Given the description of an element on the screen output the (x, y) to click on. 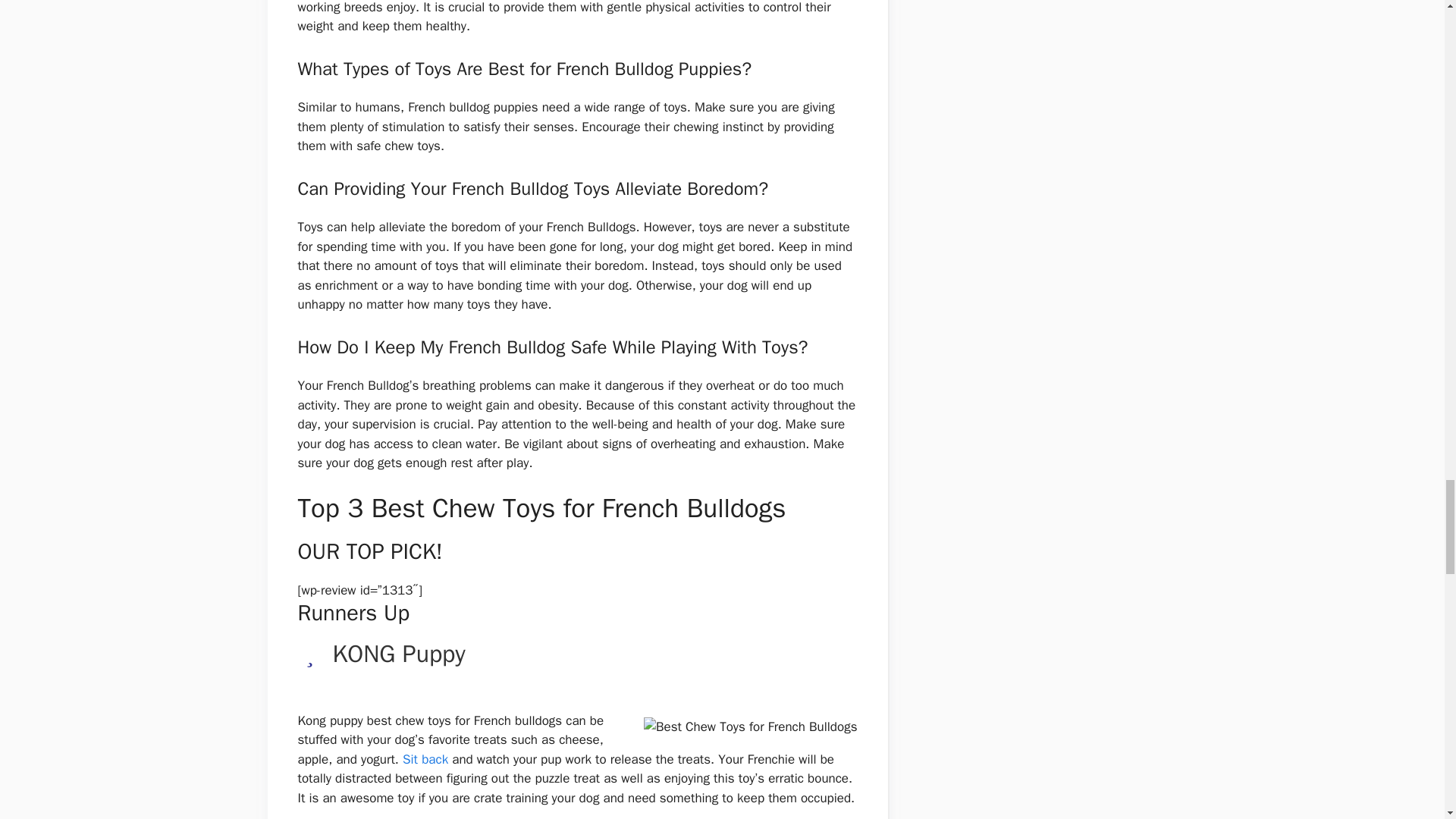
Sit back (425, 759)
